Given the description of an element on the screen output the (x, y) to click on. 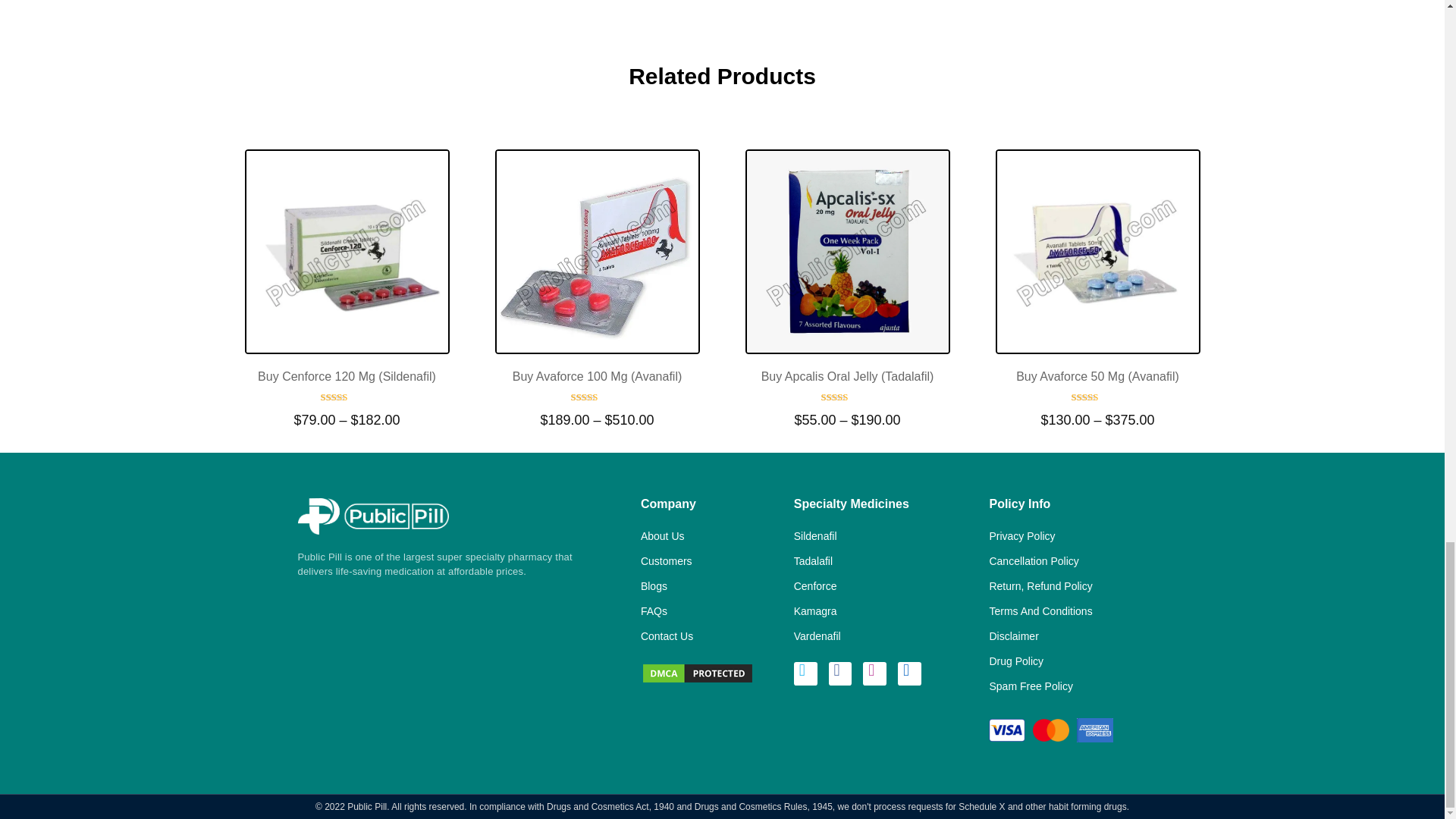
DMCA.com Protection Status (697, 671)
